Given the description of an element on the screen output the (x, y) to click on. 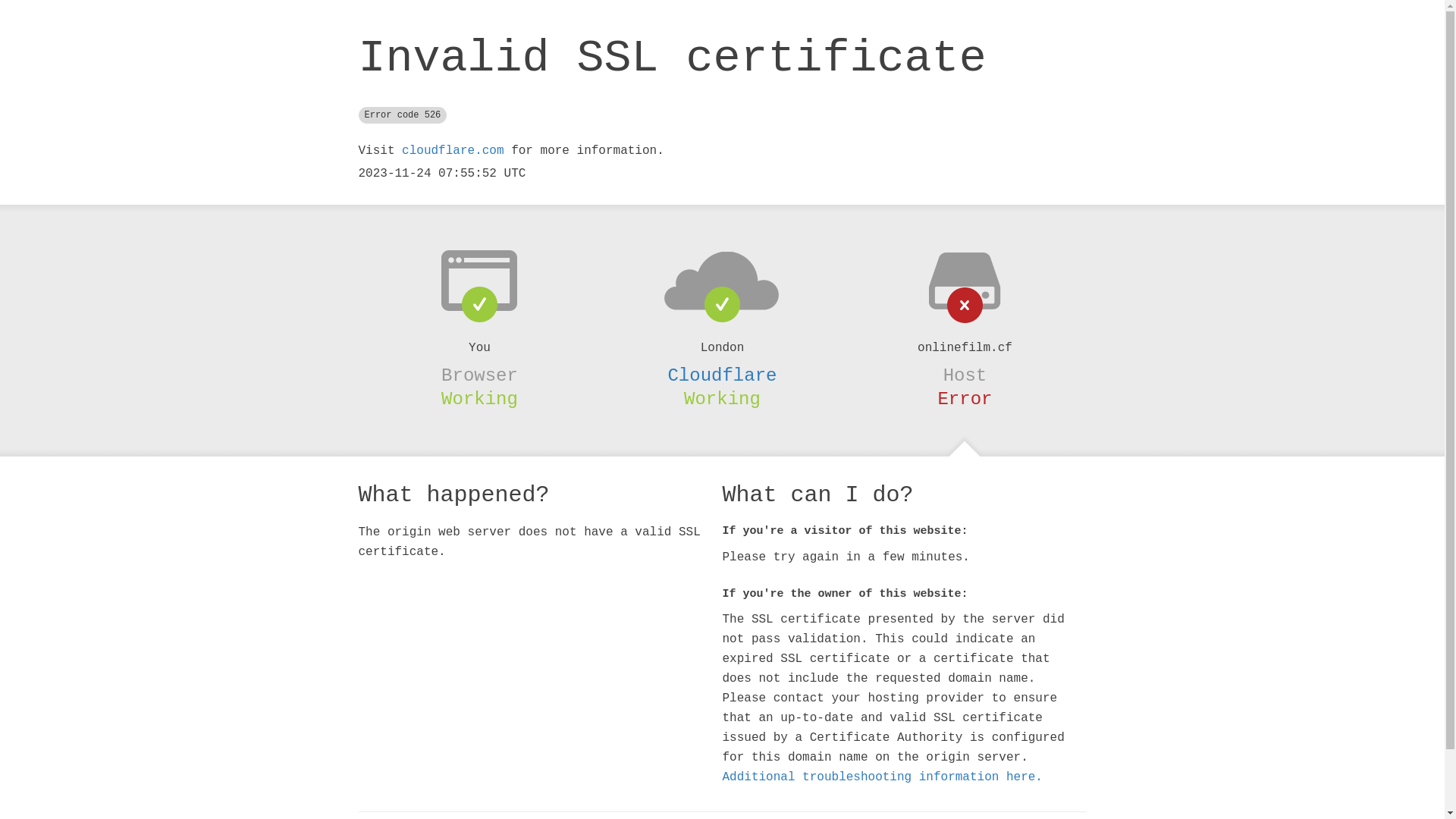
cloudflare.com Element type: text (452, 150)
Additional troubleshooting information here. Element type: text (881, 777)
Cloudflare Element type: text (721, 375)
